Given the description of an element on the screen output the (x, y) to click on. 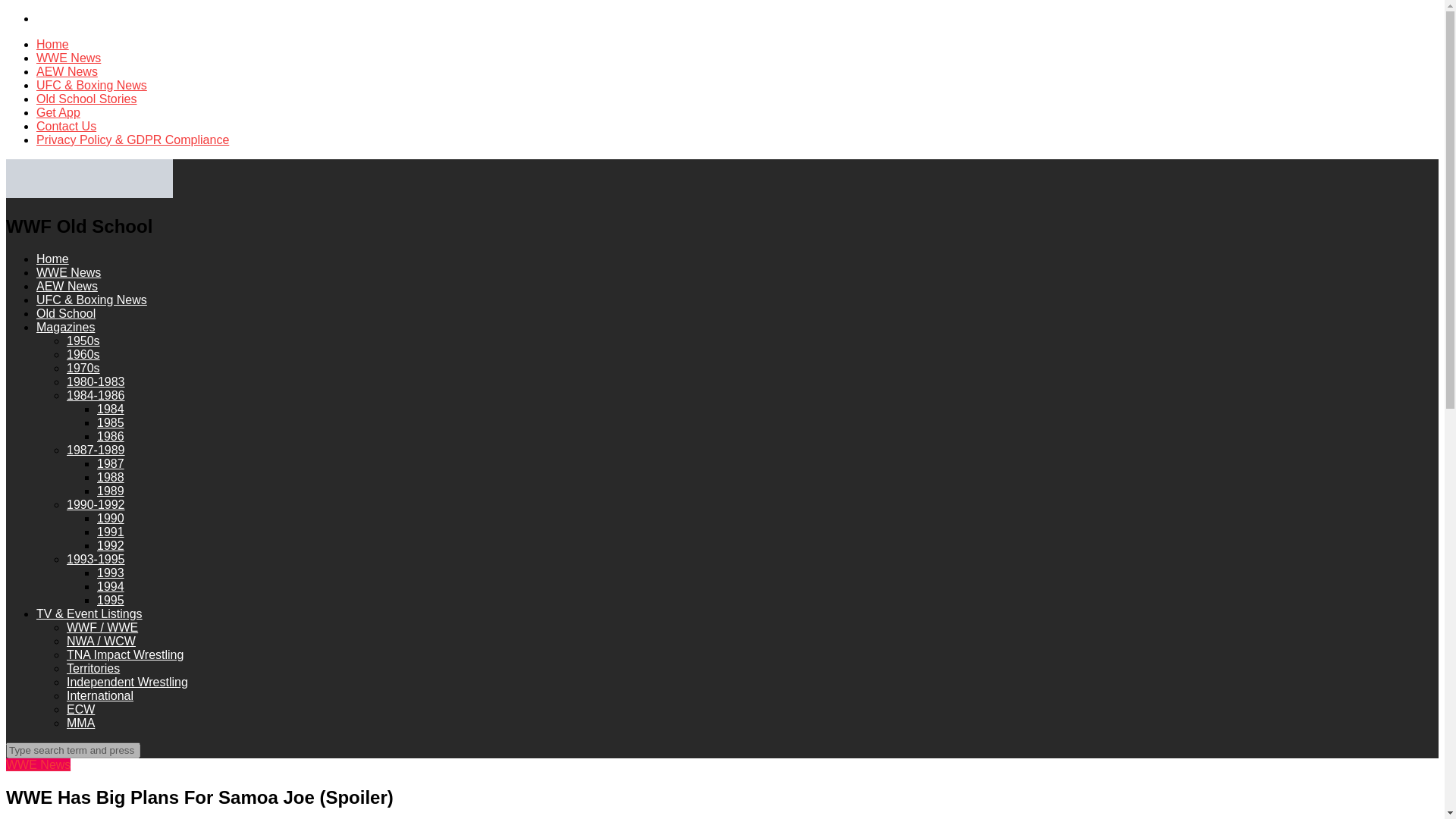
1988 (110, 477)
1994 (110, 585)
1980-1983 (95, 381)
1993-1995 (95, 558)
1984-1986 (95, 395)
1990-1992 (95, 504)
AEW News (66, 71)
1989 (110, 490)
1991 (110, 531)
1985 (110, 422)
